Given the description of an element on the screen output the (x, y) to click on. 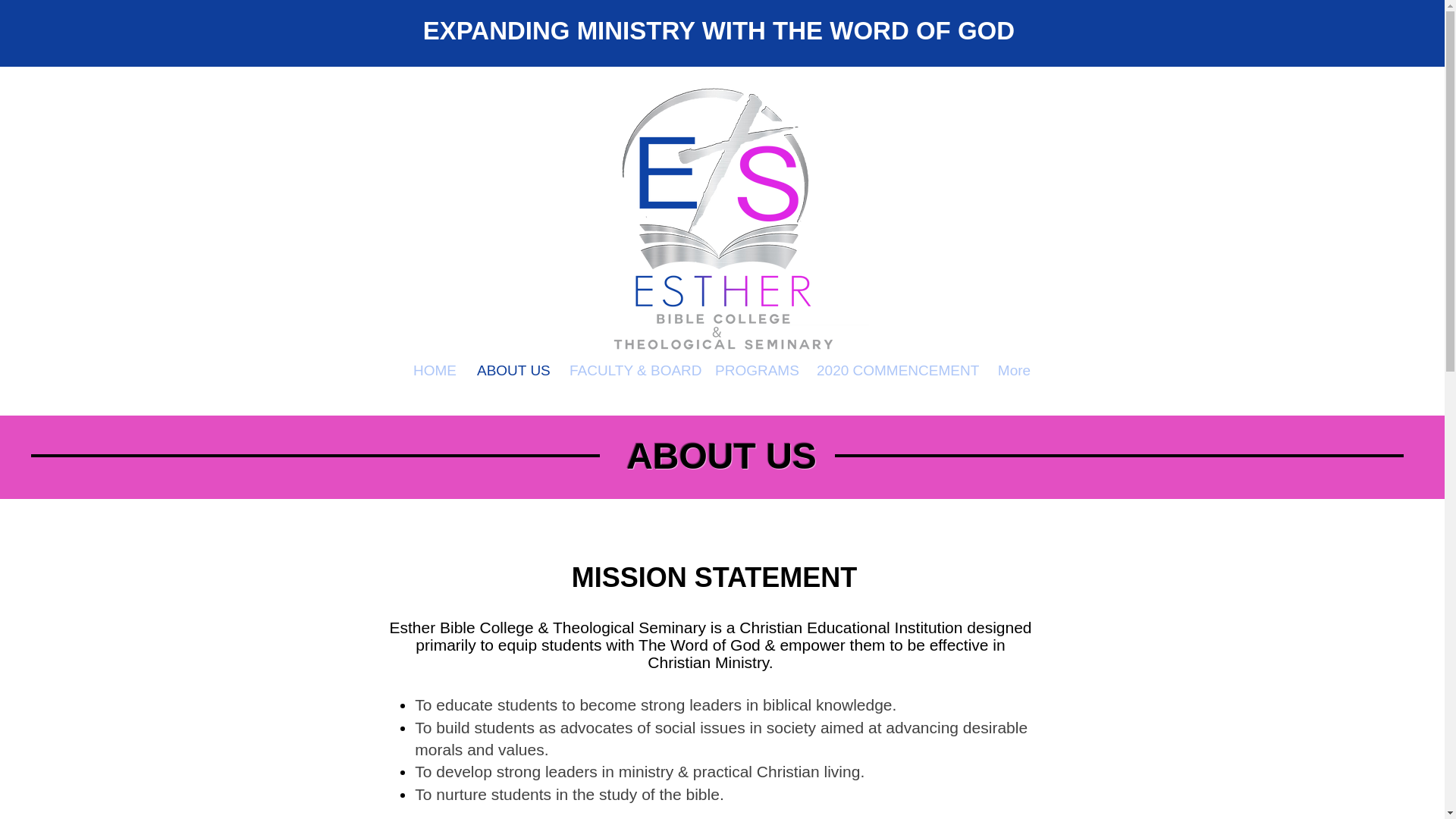
2020 COMMENCEMENT (895, 370)
PROGRAMS (754, 370)
ABOUT US (511, 370)
HOME (433, 370)
